Given the description of an element on the screen output the (x, y) to click on. 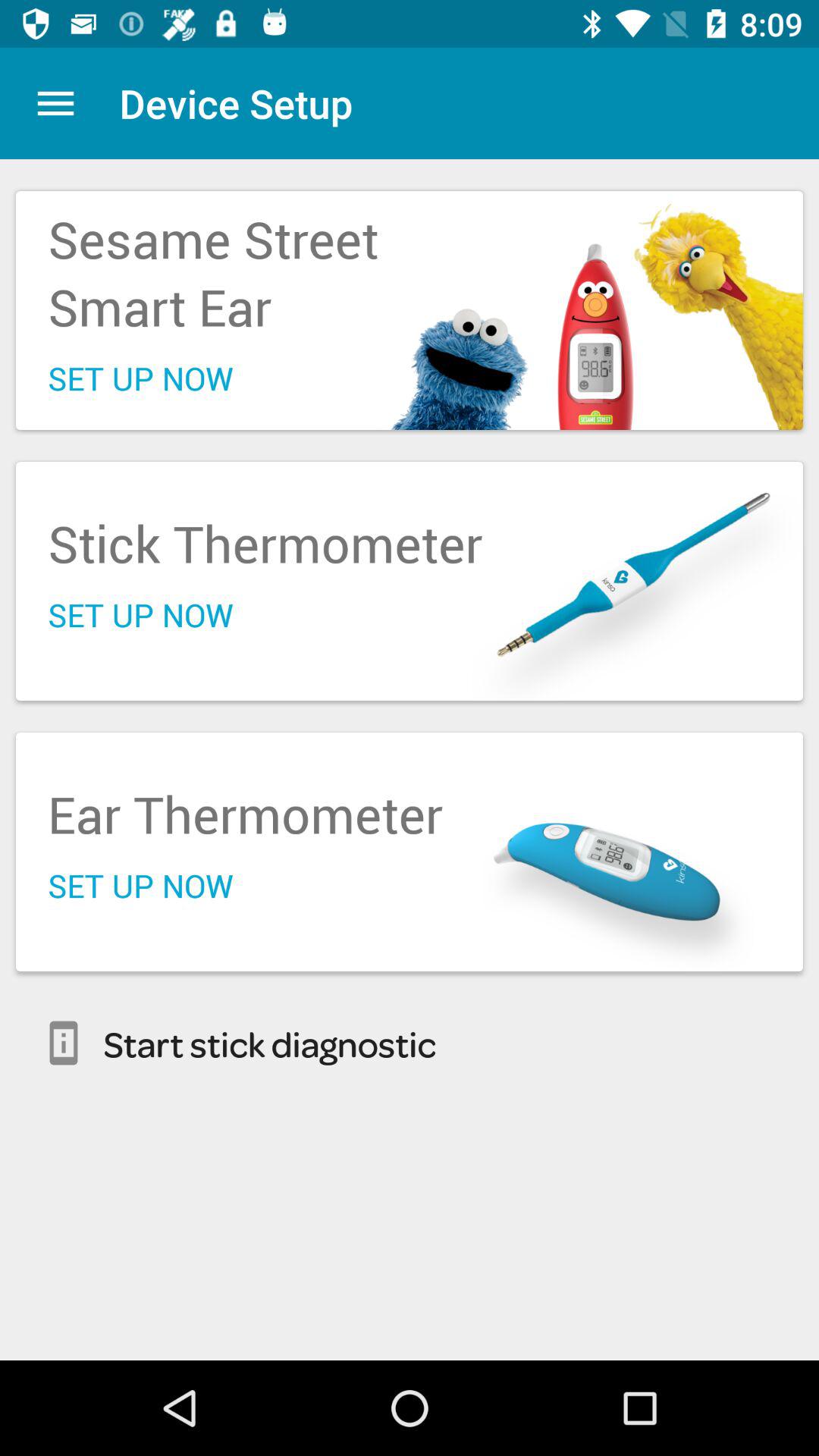
launch start stick diagnostic item (409, 1042)
